Given the description of an element on the screen output the (x, y) to click on. 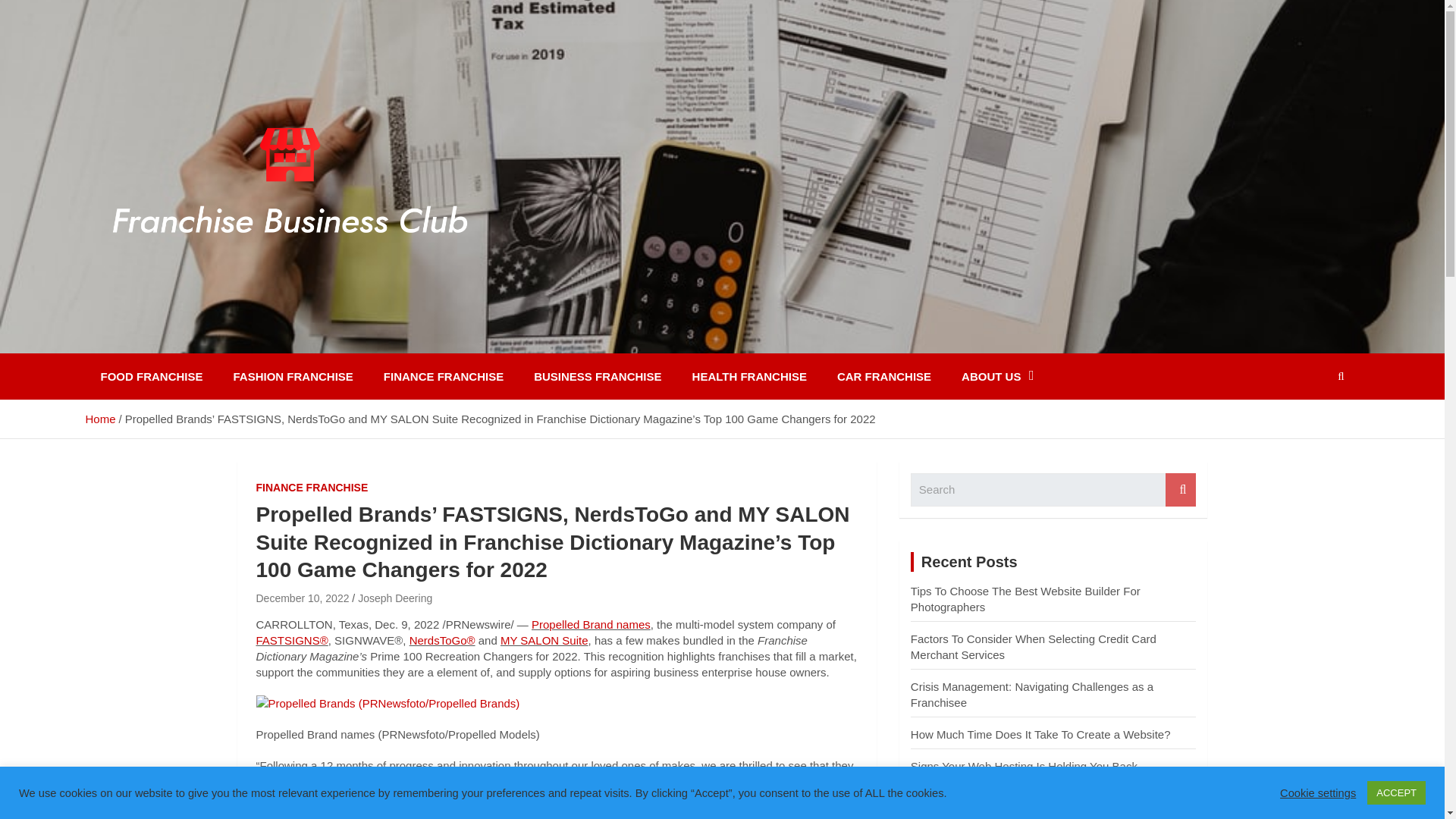
ABOUT US (997, 375)
FINANCE FRANCHISE (312, 488)
Propelled Brand names (590, 624)
Home (99, 418)
FINANCE FRANCHISE (443, 375)
Joseph Deering (395, 598)
HEALTH FRANCHISE (749, 375)
BUSINESS FRANCHISE (597, 375)
CAR FRANCHISE (884, 375)
Franchise Business Club (265, 342)
FASHION FRANCHISE (293, 375)
FOOD FRANCHISE (150, 375)
MY SALON Suite (544, 640)
December 10, 2022 (302, 598)
